Given the description of an element on the screen output the (x, y) to click on. 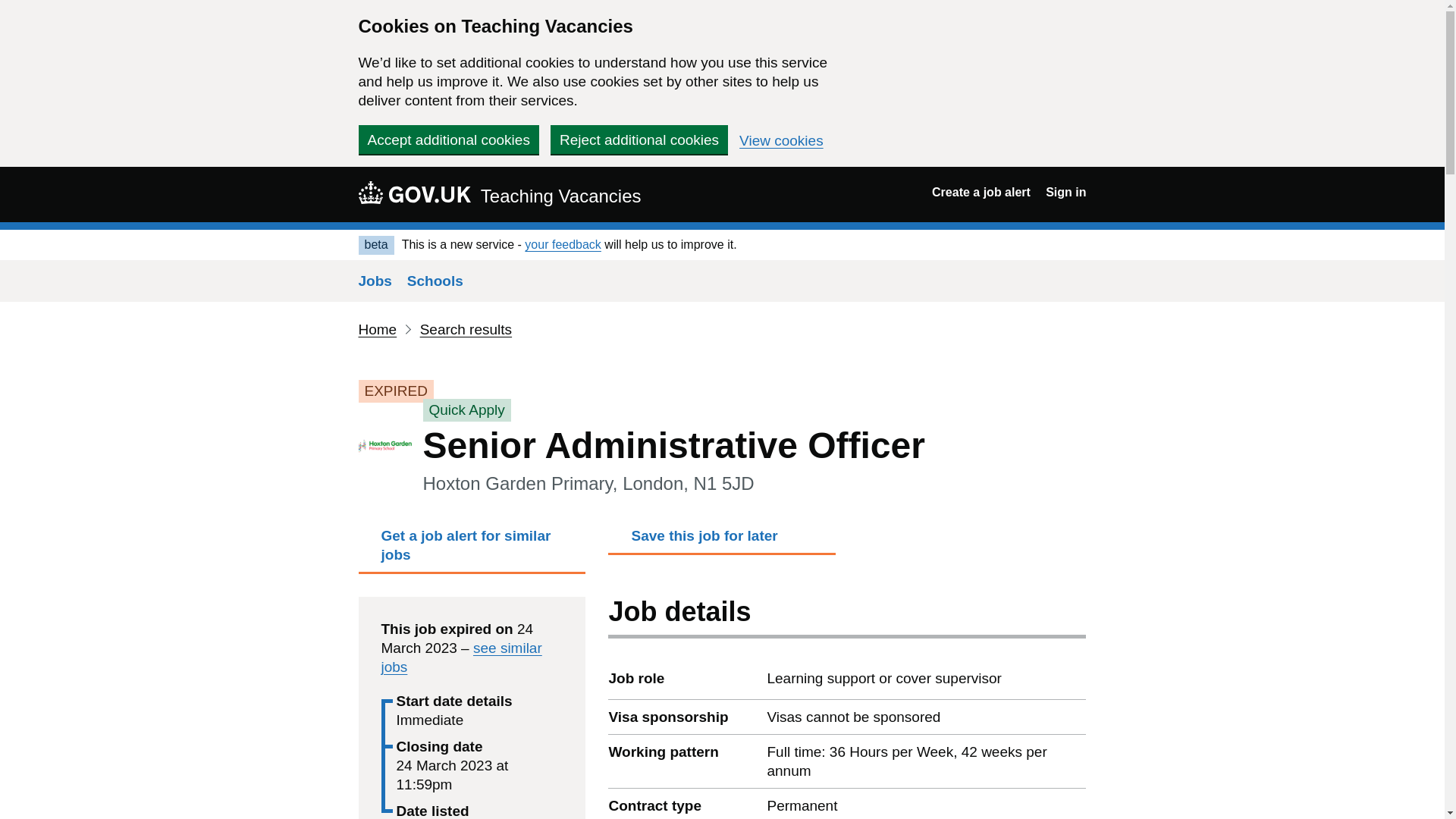
Accept additional cookies (448, 139)
GOV.UK Teaching Vacancies (499, 194)
GOV.UK (414, 191)
Home (377, 329)
Save this job for later (721, 540)
your feedback (562, 244)
Sign in (1065, 192)
Schools (435, 281)
Reject additional cookies (639, 139)
